Given the description of an element on the screen output the (x, y) to click on. 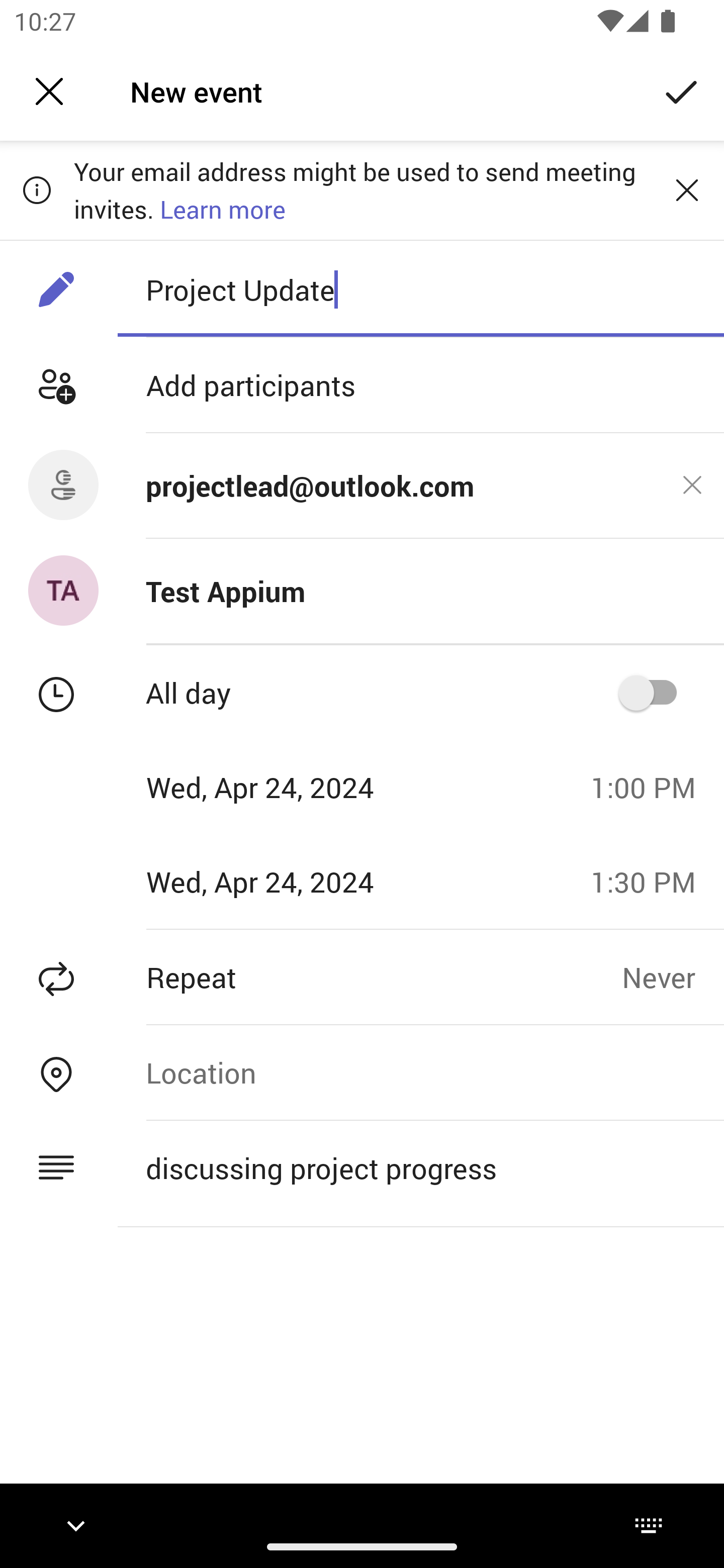
Back (49, 91)
Send invite (681, 90)
Dismiss banner (687, 189)
Project Update (420, 289)
Add participants Add participants option (362, 384)
projectlead@outlook.com, remove participant (692, 484)
All day (654, 692)
Wed, Apr 24, 2024 Starts Wednesday Apr 24, 2024 (288, 787)
1:00 PM Start time 1:00 PM (650, 787)
Wed, Apr 24, 2024 Ends Wednesday Apr 24, 2024 (288, 881)
1:30 PM End time 1:30 PM (650, 881)
Repeat (310, 976)
Never Repeat Never (672, 976)
Location (420, 1072)
